Given the description of an element on the screen output the (x, y) to click on. 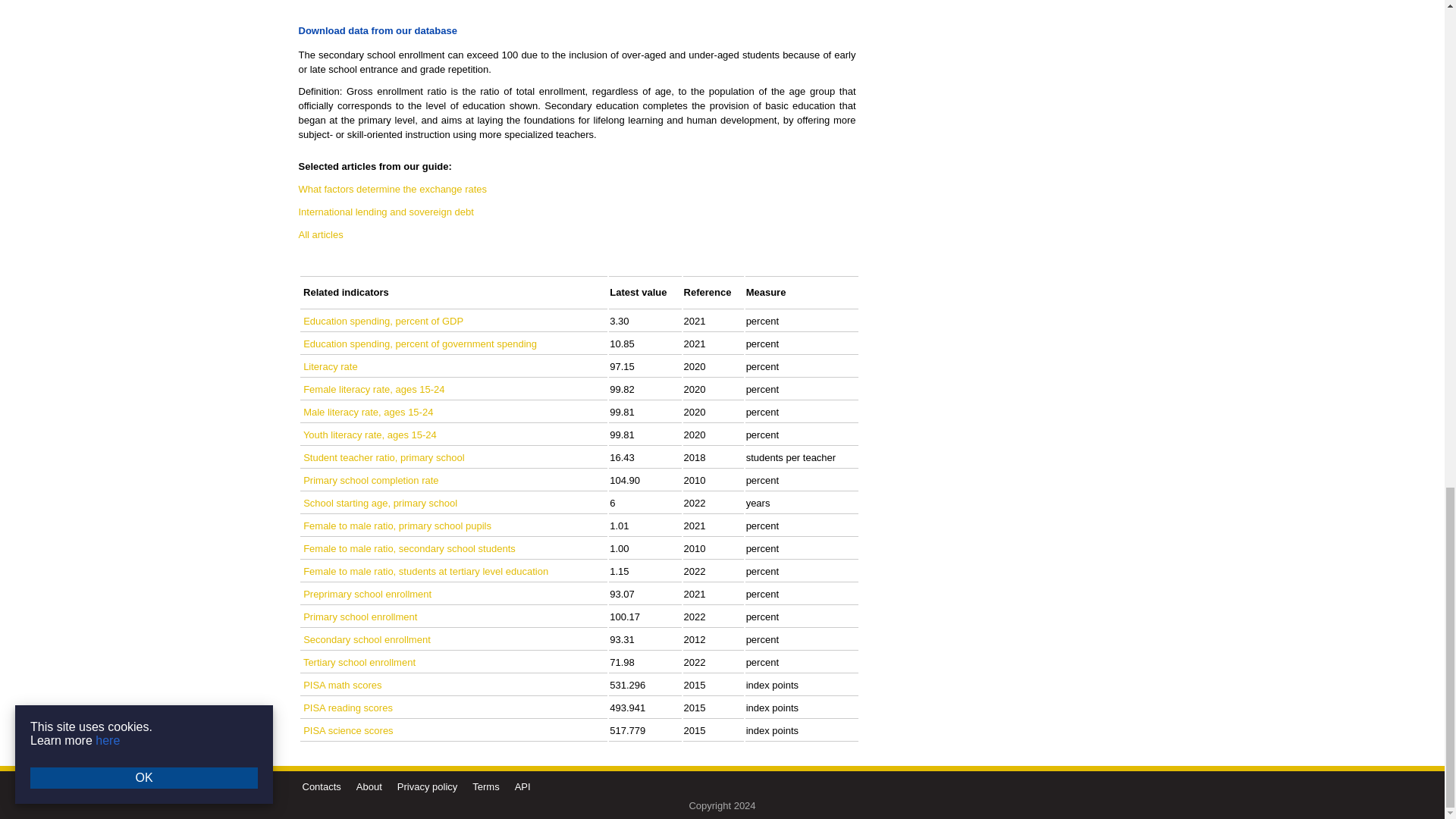
Download data from our database (377, 30)
What factors determine the exchange rates (392, 188)
